Given the description of an element on the screen output the (x, y) to click on. 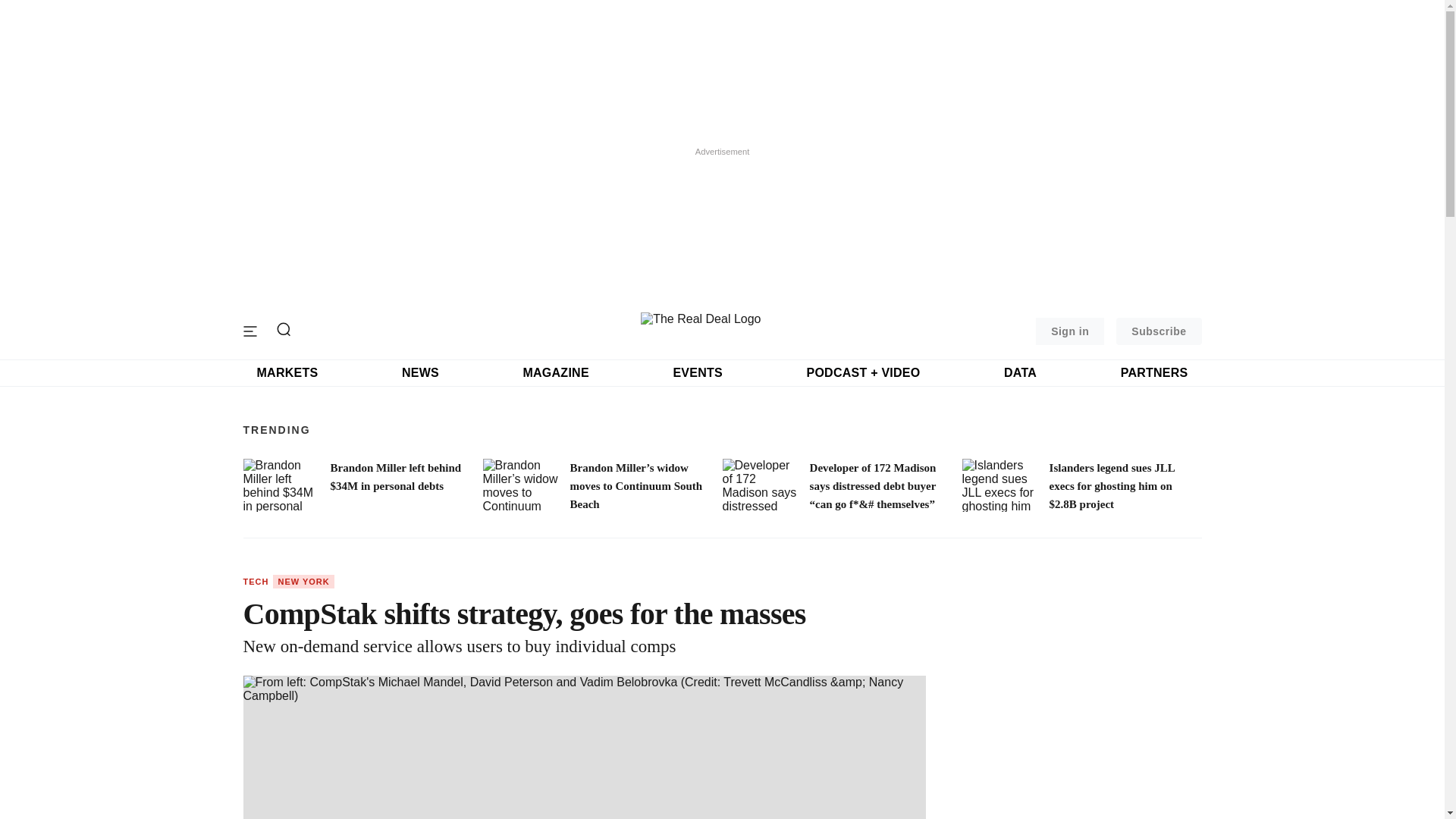
MARKETS (286, 373)
Subscribe (1158, 330)
MAGAZINE (555, 373)
Sign in (1069, 330)
NEWS (420, 373)
EVENTS (697, 373)
